Given the description of an element on the screen output the (x, y) to click on. 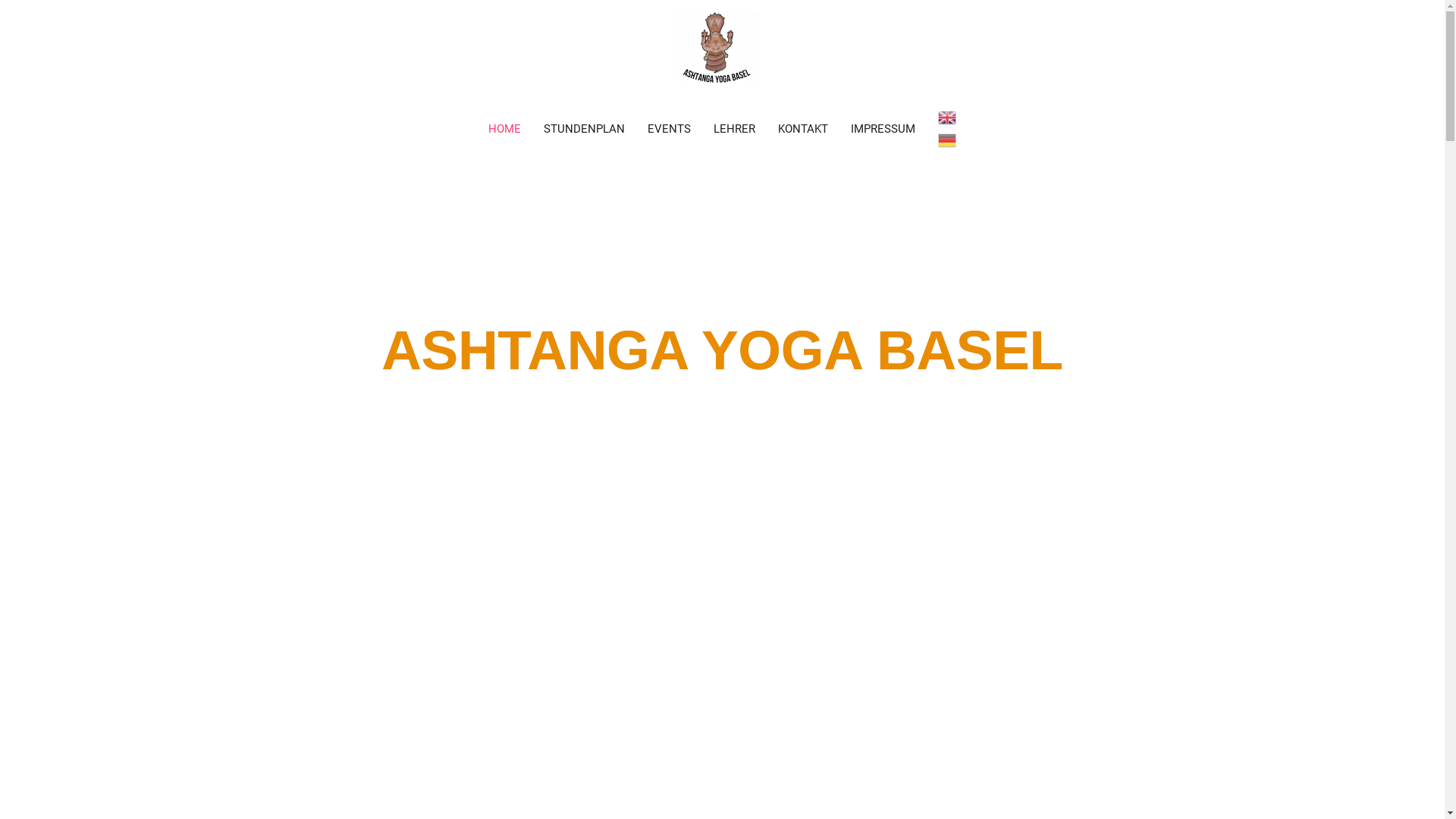
English Element type: hover (946, 117)
KONTAKT Element type: text (802, 128)
LEHRER Element type: text (734, 128)
IMPRESSUM Element type: text (882, 128)
EVENTS Element type: text (669, 128)
STUNDENPLAN Element type: text (584, 128)
HOME Element type: text (504, 128)
Deutsch Element type: hover (946, 139)
